Given the description of an element on the screen output the (x, y) to click on. 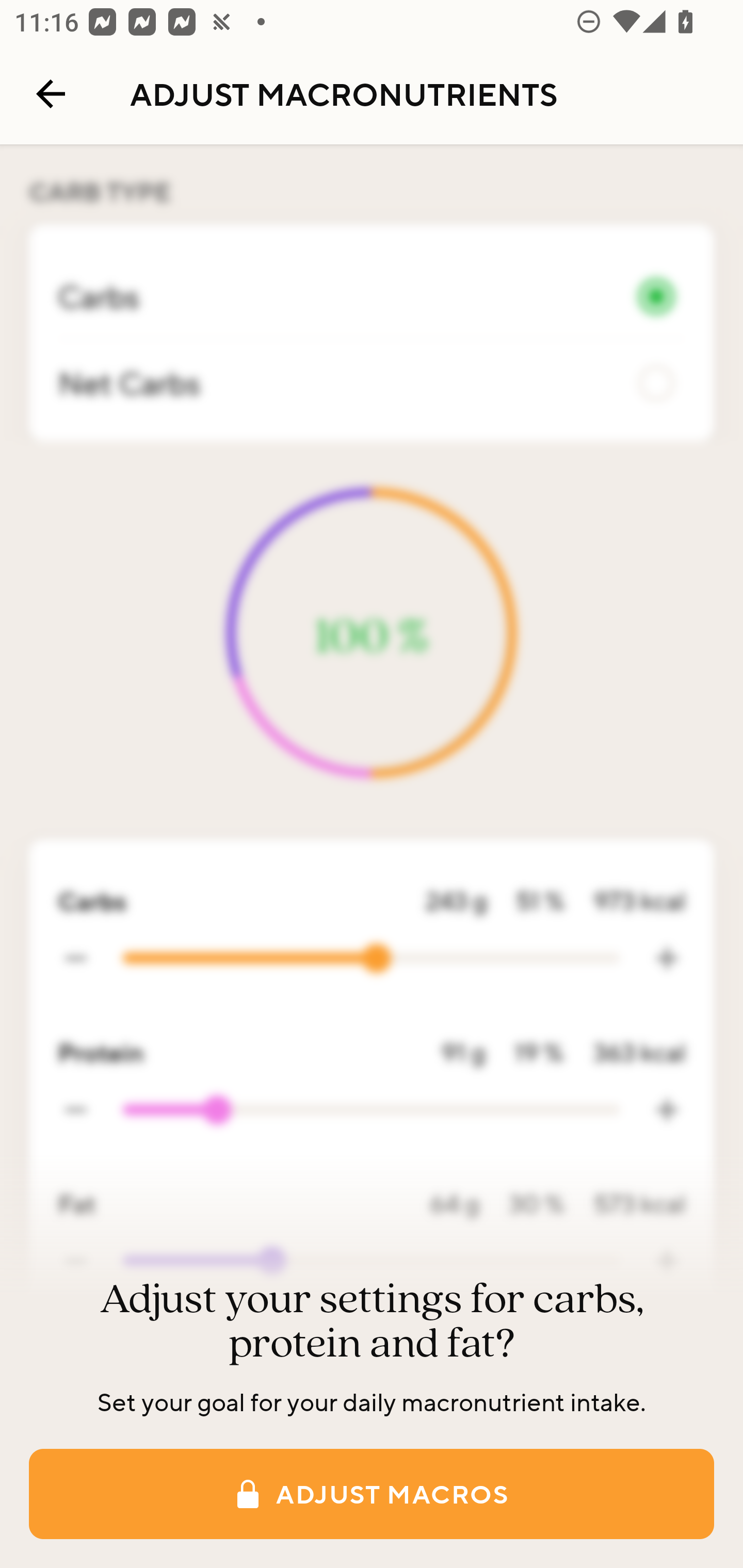
Navigate up (50, 93)
ADJUST MACROS (371, 1493)
